Given the description of an element on the screen output the (x, y) to click on. 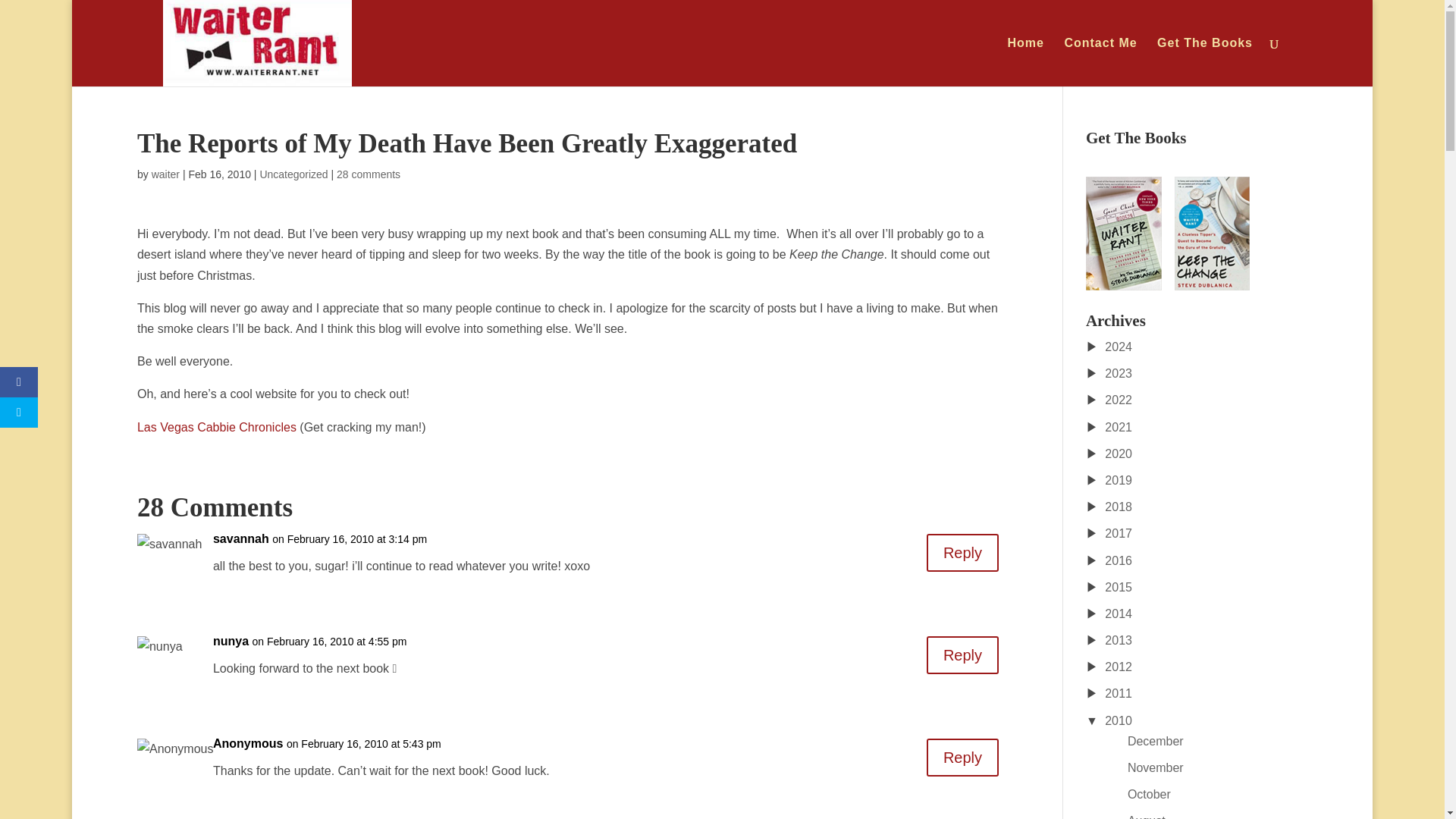
waiter (165, 174)
Get The Books (1204, 61)
Get The Books (1167, 233)
Las Vegas Cabbie Chronicles (216, 426)
Contact Me (1100, 61)
savannah (240, 538)
Reply (962, 757)
Reply (962, 552)
28 comments (368, 174)
Posts by waiter (165, 174)
Uncategorized (293, 174)
nunya (230, 640)
Home (1025, 61)
Reply (962, 655)
